Given the description of an element on the screen output the (x, y) to click on. 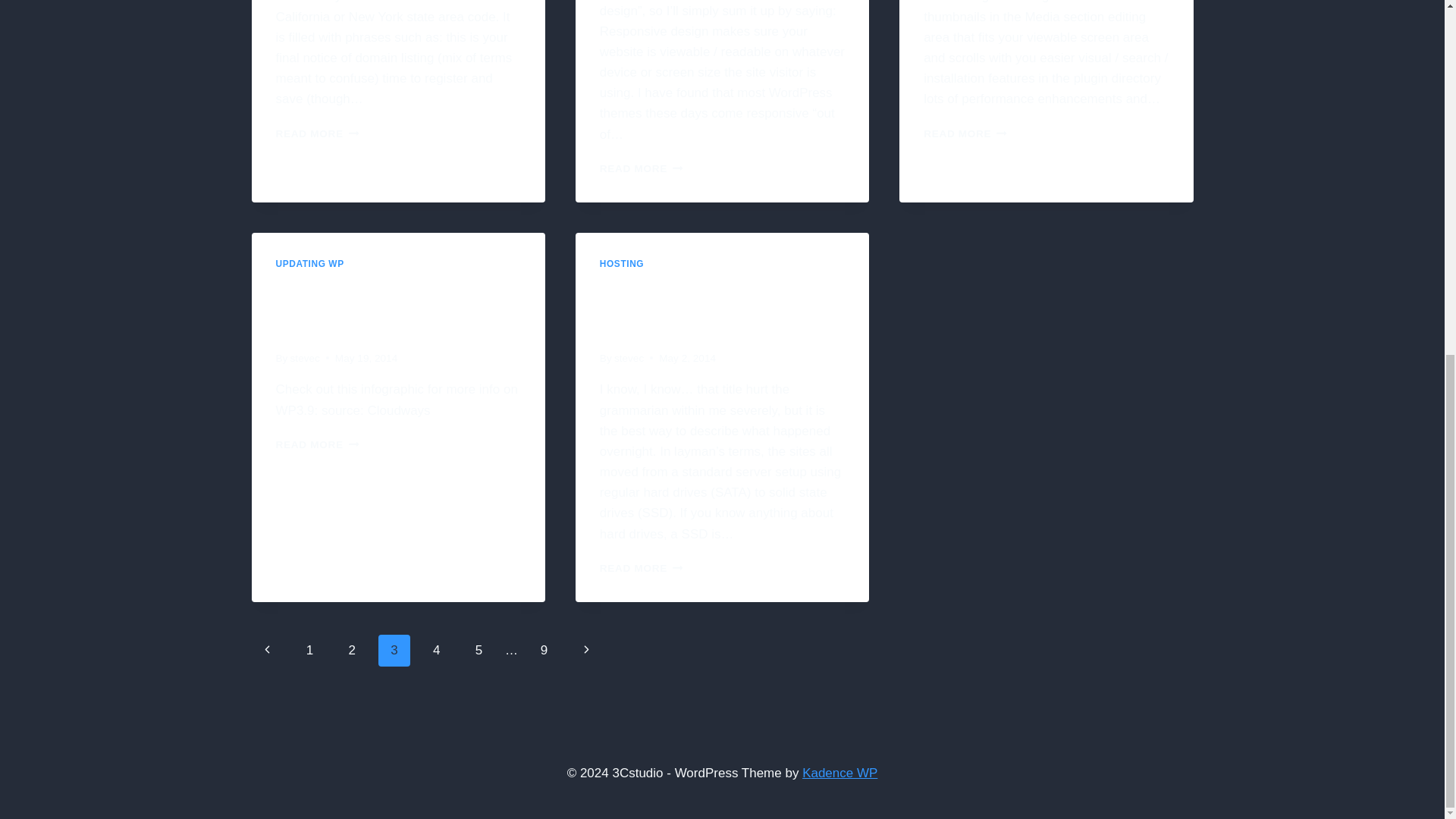
1 (310, 650)
9 (543, 650)
5 (479, 650)
HOSTING (621, 263)
4 (436, 650)
2 (965, 133)
UPDATING WP (317, 133)
